Given the description of an element on the screen output the (x, y) to click on. 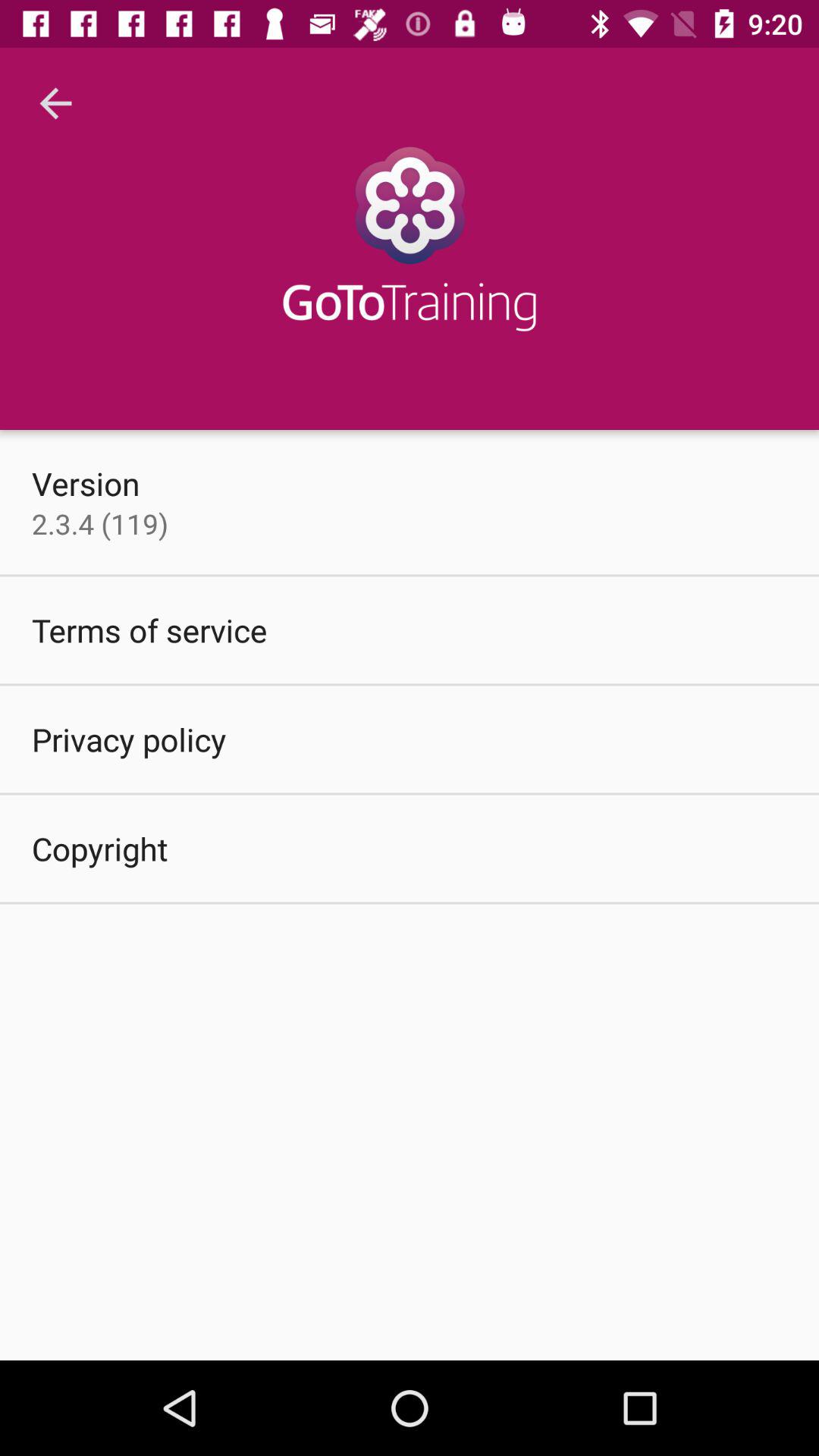
launch copyright item (99, 848)
